Given the description of an element on the screen output the (x, y) to click on. 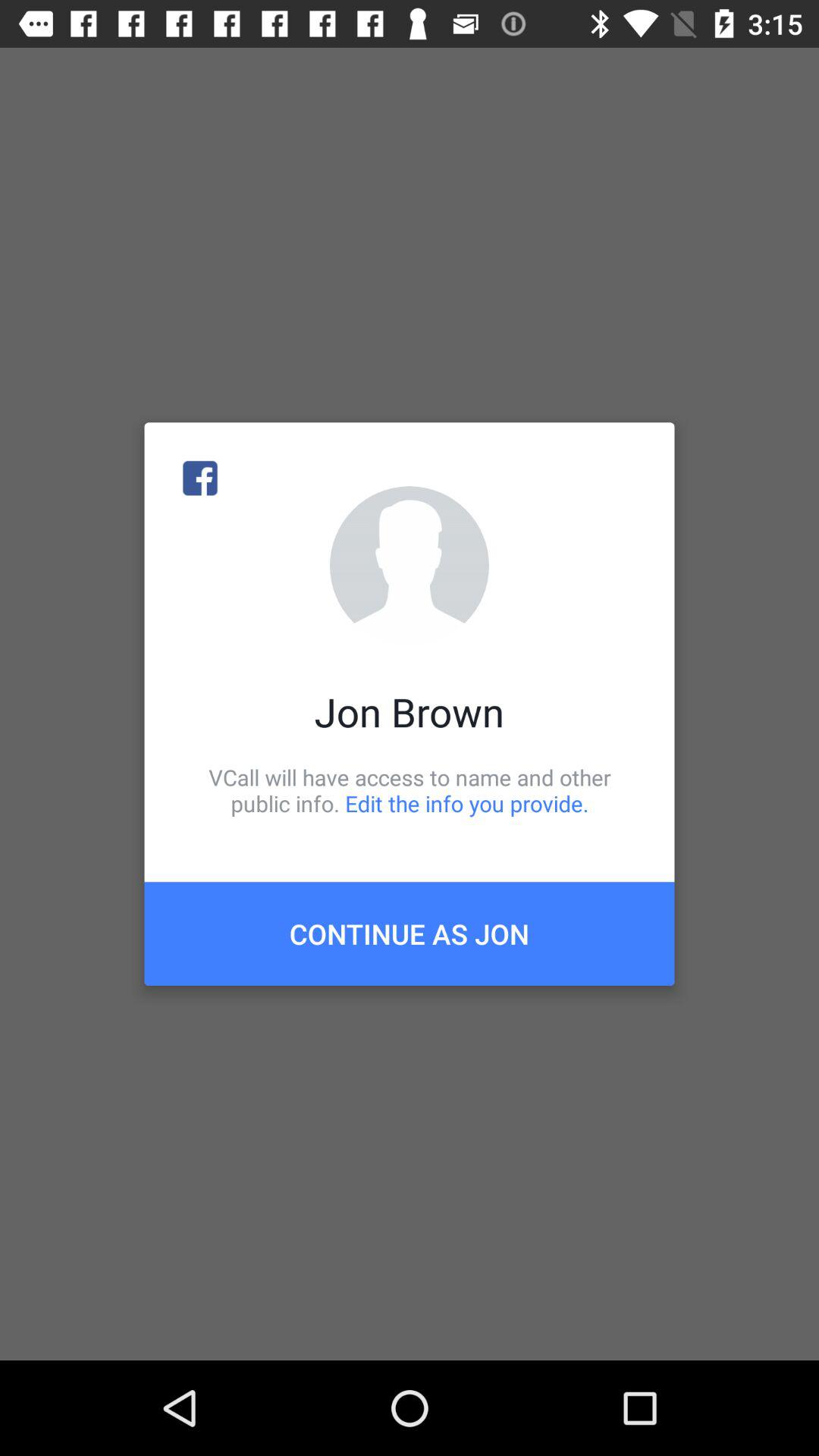
press continue as jon item (409, 933)
